Given the description of an element on the screen output the (x, y) to click on. 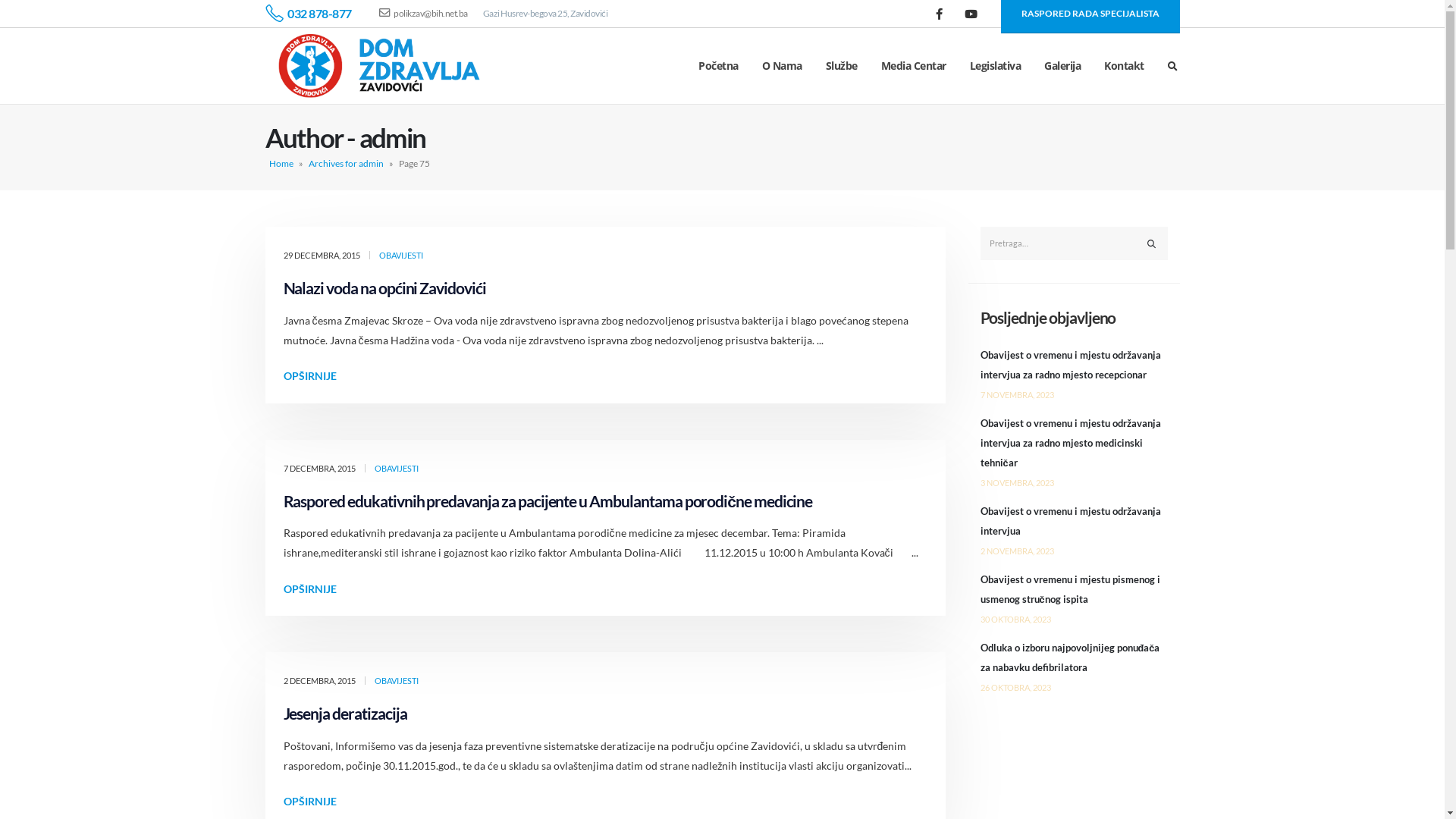
Facebook Element type: hover (938, 13)
OBAVIJESTI Element type: text (396, 680)
Media Centar Element type: text (913, 65)
Archives for admin Element type: text (344, 163)
Legislativa Element type: text (995, 65)
Youtube Element type: hover (970, 13)
OBAVIJESTI Element type: text (401, 255)
Jesenja deratizacija Element type: text (345, 712)
OBAVIJESTI Element type: text (396, 467)
Kontakt Element type: text (1123, 65)
O Nama Element type: text (781, 65)
Home Element type: text (280, 163)
Galerija Element type: text (1062, 65)
